Given the description of an element on the screen output the (x, y) to click on. 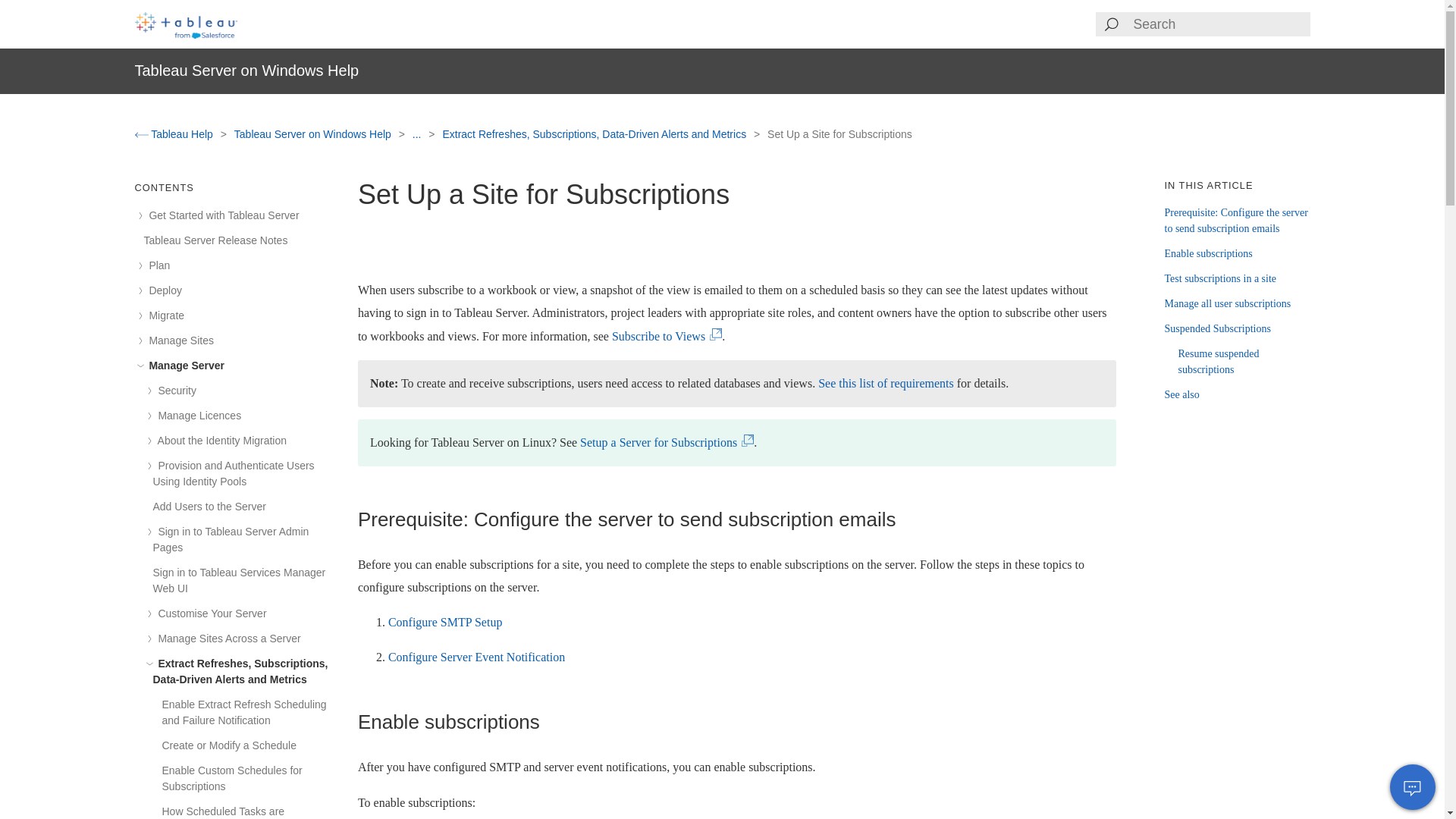
Get Started with Tableau Server (221, 215)
Deploy (163, 290)
... (418, 133)
Opens topic in a new browser tab (666, 441)
Plan (157, 265)
Set Up a Site for Subscriptions (839, 133)
Tableau Help (175, 133)
Tableau Server on Windows Help (314, 133)
Tableau Server Release Notes (216, 240)
